Given the description of an element on the screen output the (x, y) to click on. 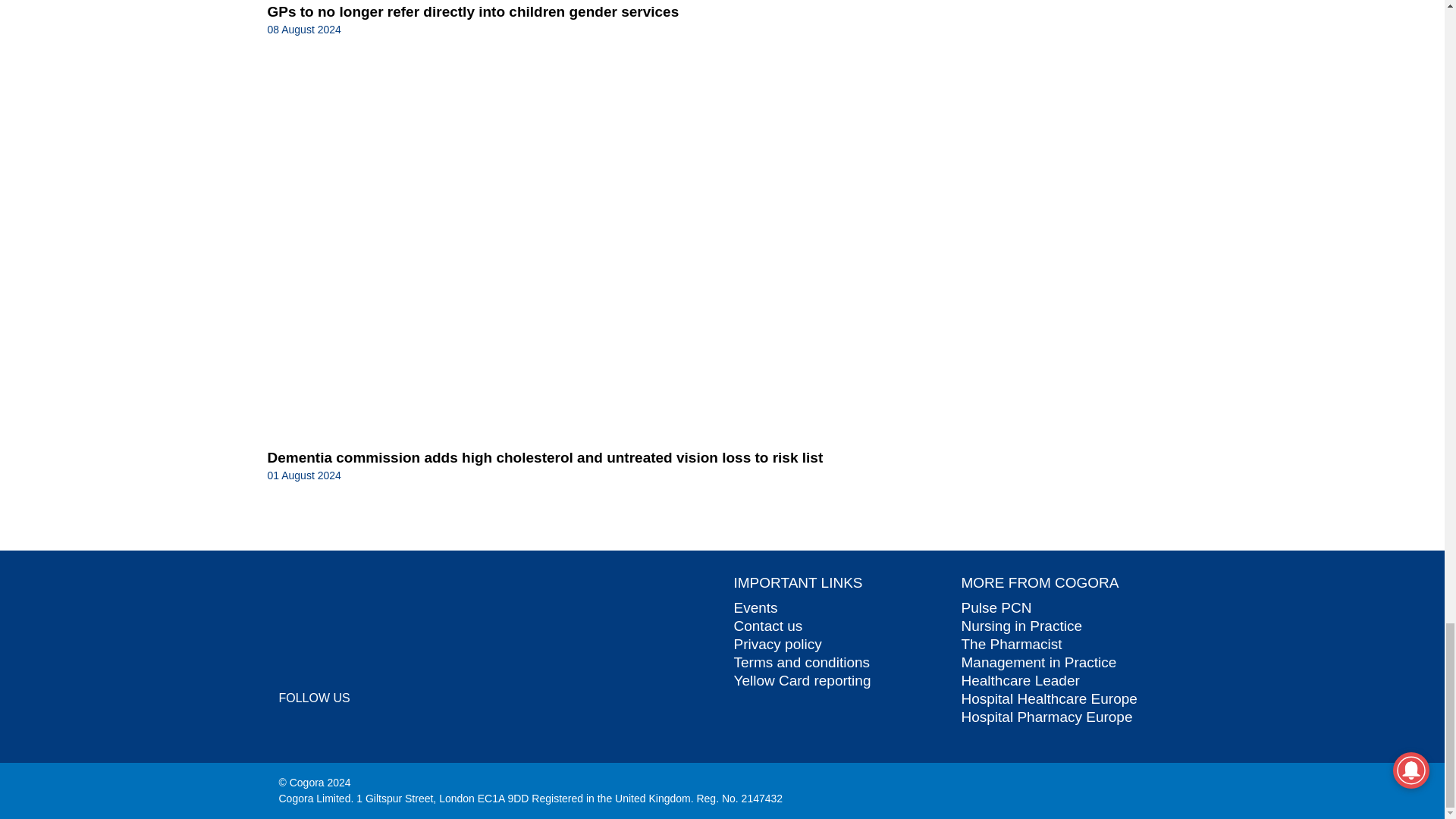
Privacy policy (777, 643)
Contact us (768, 625)
Events (755, 607)
